Given the description of an element on the screen output the (x, y) to click on. 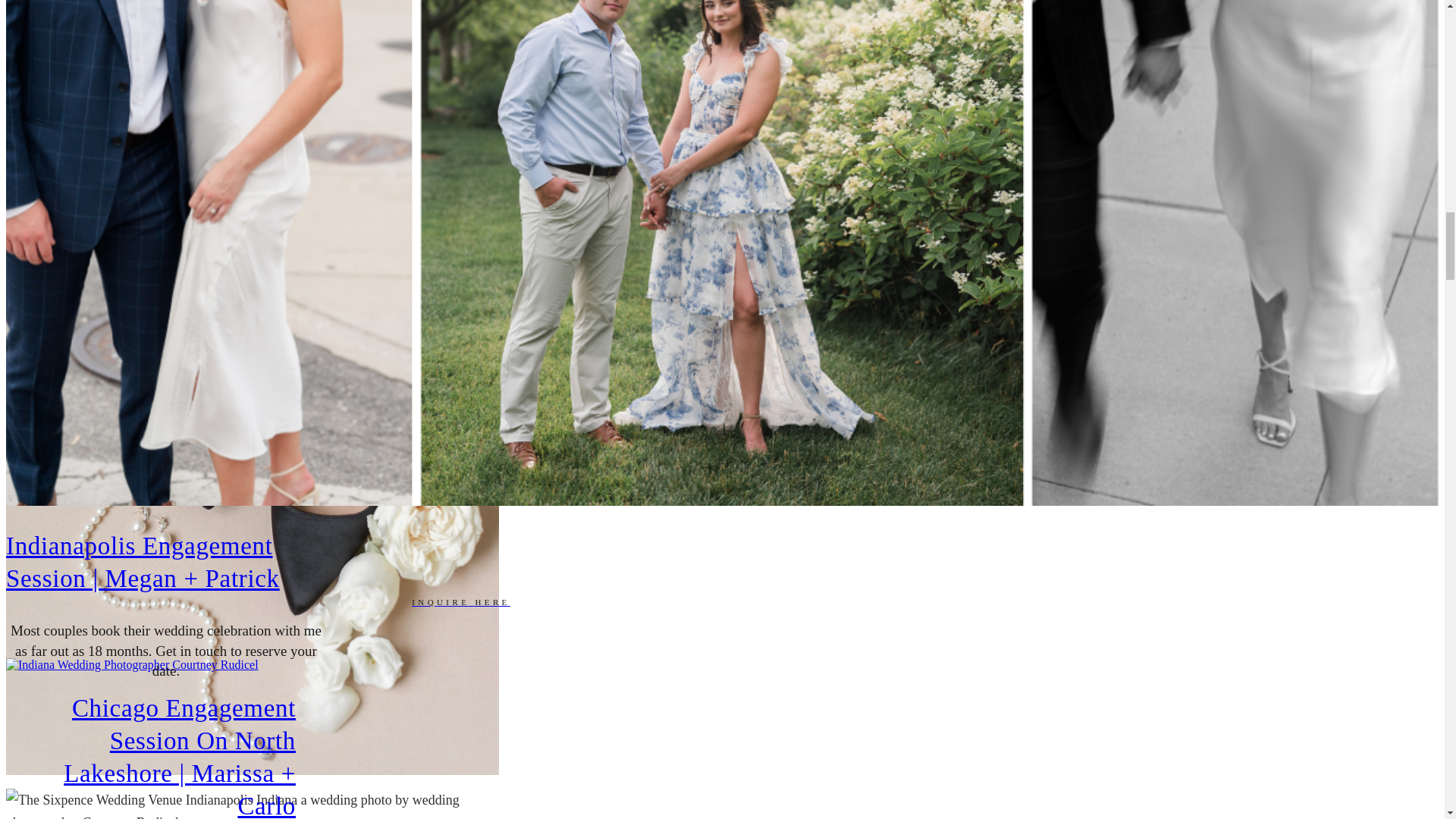
WEDDINGS (460, 153)
